Given the description of an element on the screen output the (x, y) to click on. 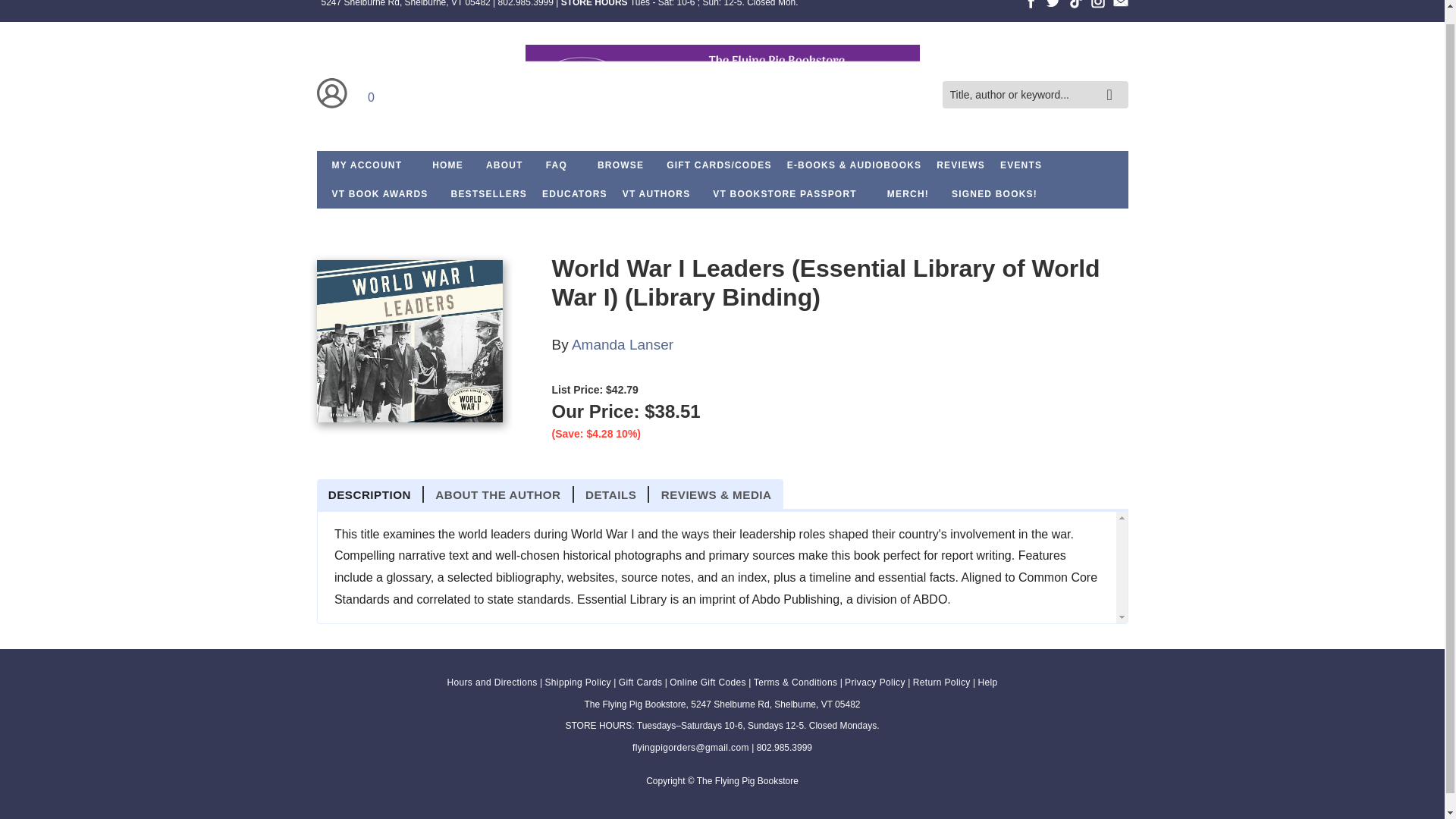
BESTSELLERS (489, 193)
VT BOOK AWARDS (380, 193)
REVIEWS (960, 164)
MY ACCOUNT (367, 164)
search (1112, 83)
EVENTS (1020, 164)
Frequently Asked Questions (556, 164)
Gift Cards and Online Gift Code (718, 164)
HOME (447, 164)
FAQ (556, 164)
